Given the description of an element on the screen output the (x, y) to click on. 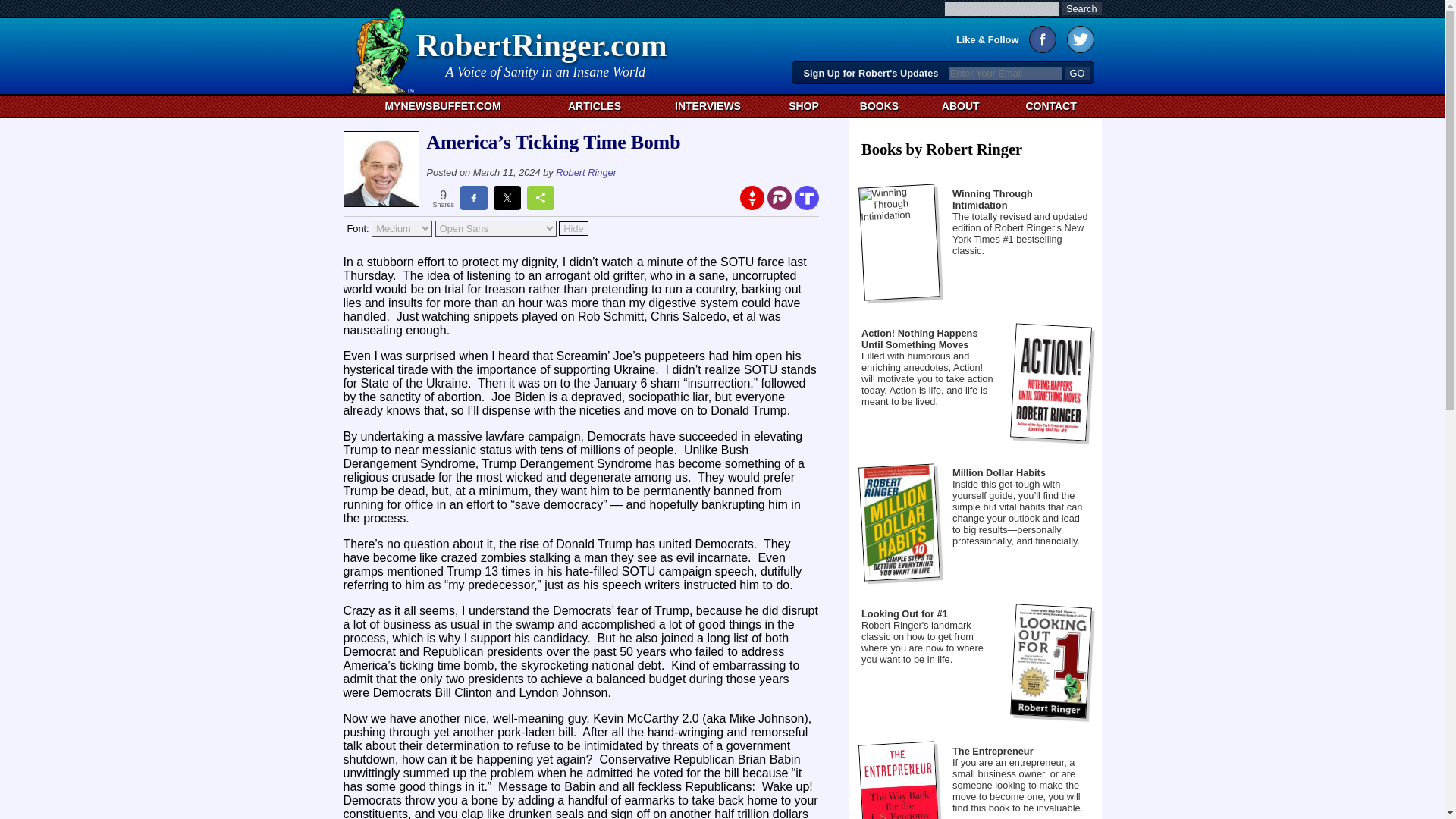
Search (1081, 8)
Robert Ringer (585, 172)
RobertRinger.com (543, 51)
ABOUT (543, 51)
Share on Parler (960, 106)
GO (779, 197)
INTERVIEWS (1077, 72)
BOOKS (707, 106)
GO (879, 106)
ARTICLES (1077, 72)
Share on Truth Social (594, 106)
Facebook (806, 197)
CONTACT (1043, 39)
Robert Ringer Facebook (1051, 106)
